Given the description of an element on the screen output the (x, y) to click on. 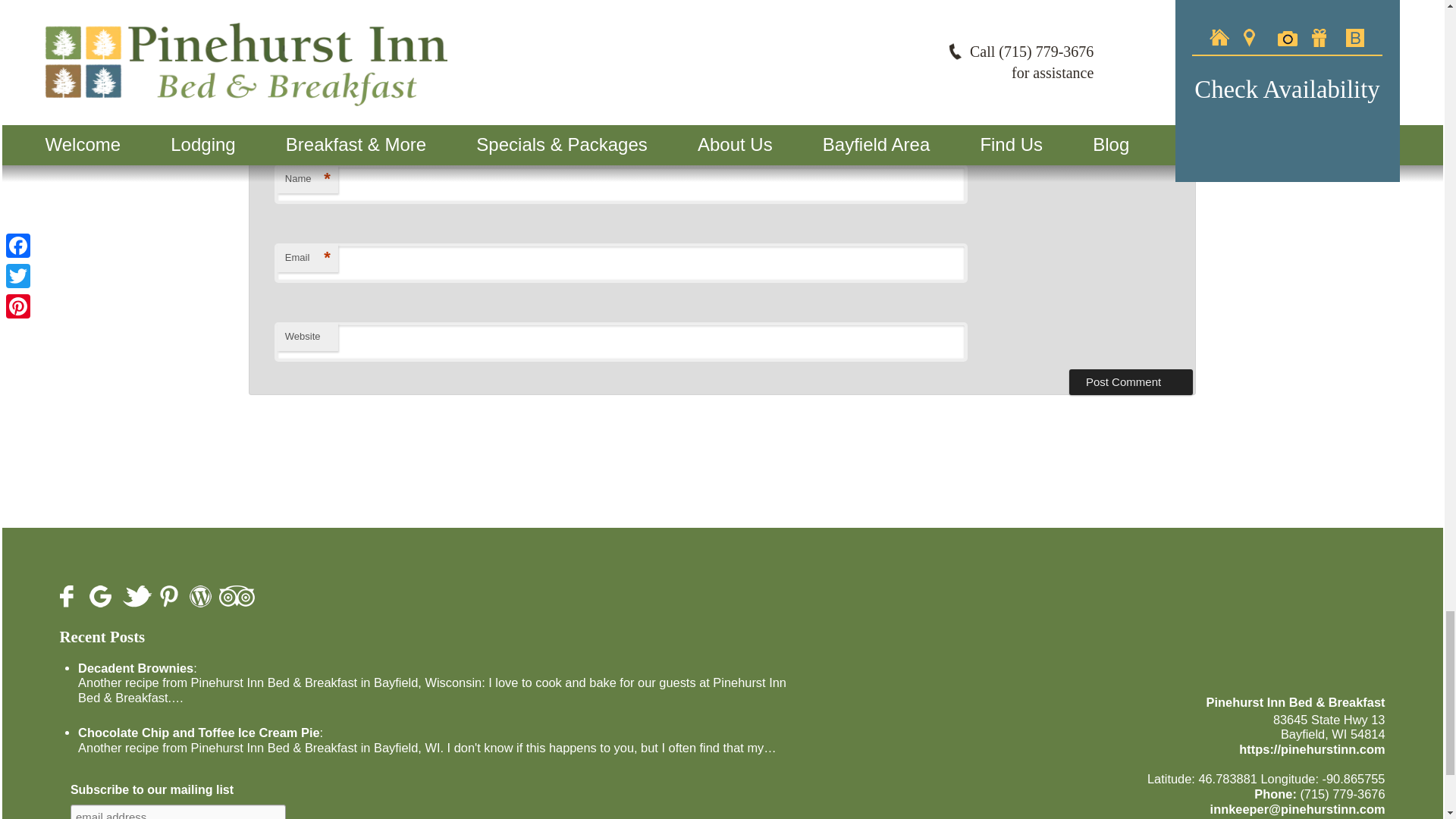
Post Comment (1130, 381)
Like us on Facebook (70, 596)
